Given the description of an element on the screen output the (x, y) to click on. 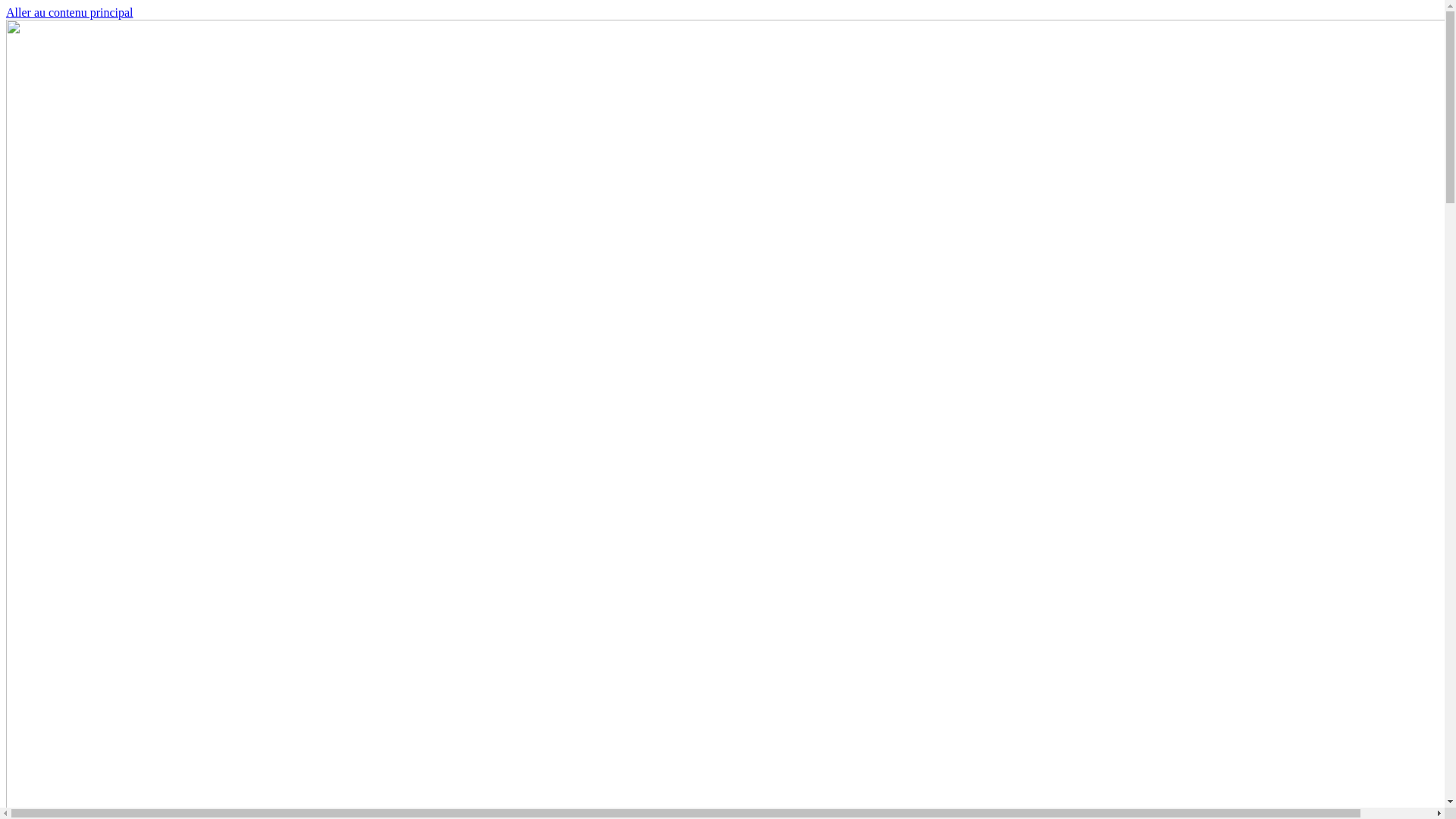
Aller au contenu principal Element type: text (69, 12)
